Given the description of an element on the screen output the (x, y) to click on. 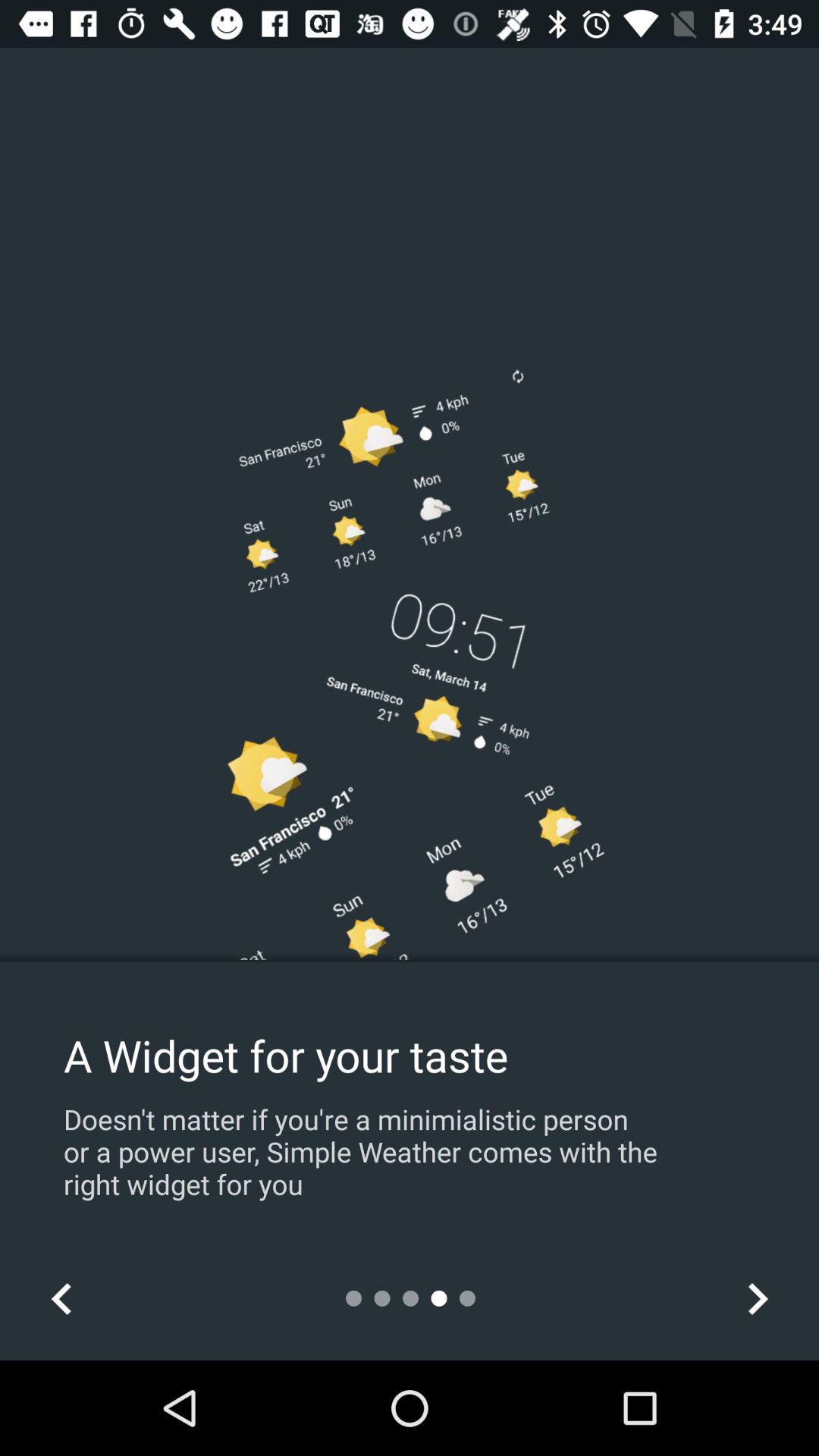
tap icon below doesn t matter item (61, 1298)
